Given the description of an element on the screen output the (x, y) to click on. 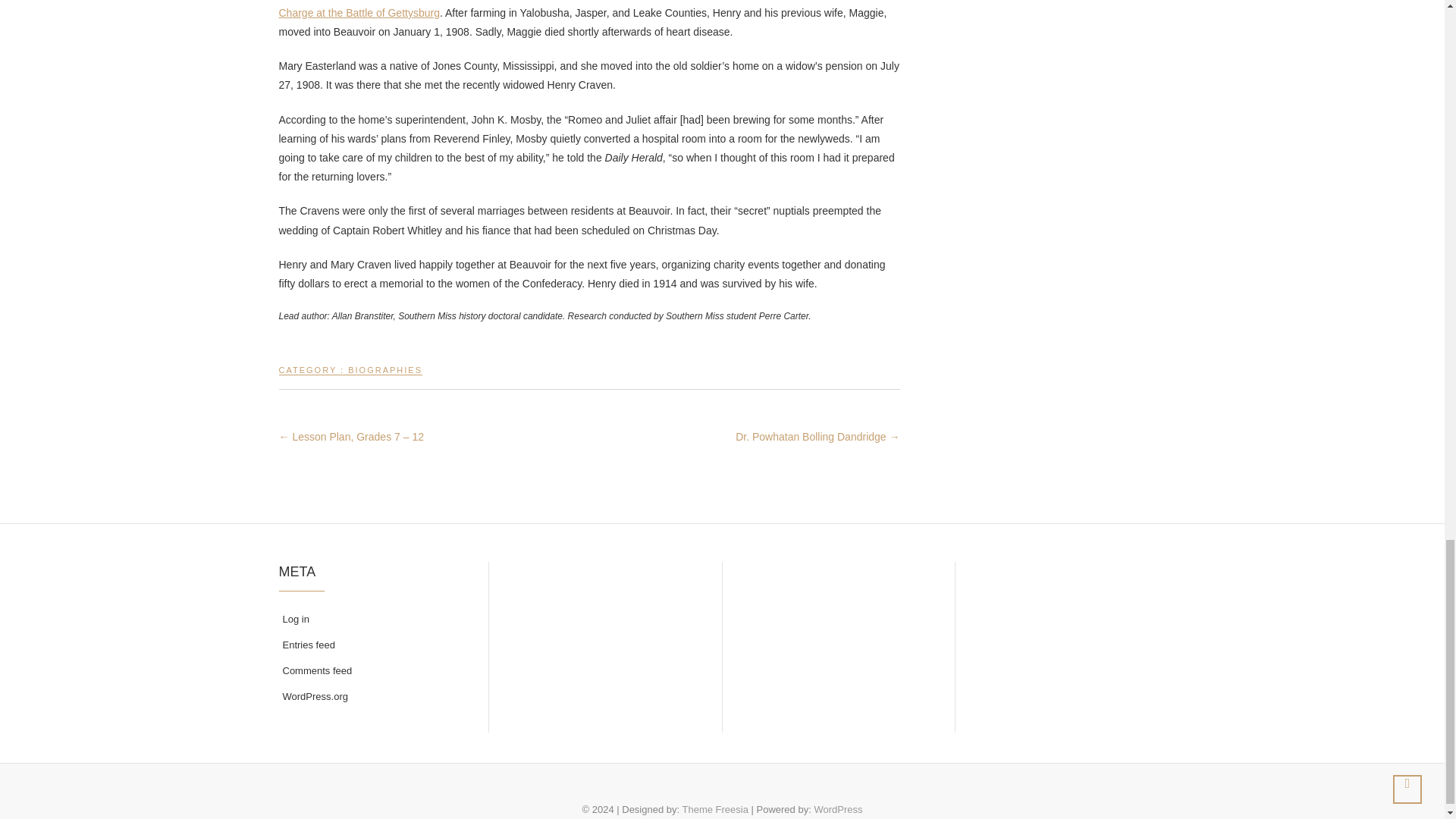
Log in (373, 618)
BIOGRAPHIES (384, 376)
Theme Freesia (715, 808)
Entries feed (373, 644)
WordPress.org (373, 696)
Comments feed (373, 670)
WordPress (837, 808)
Theme Freesia (715, 808)
WordPress (837, 808)
